Given the description of an element on the screen output the (x, y) to click on. 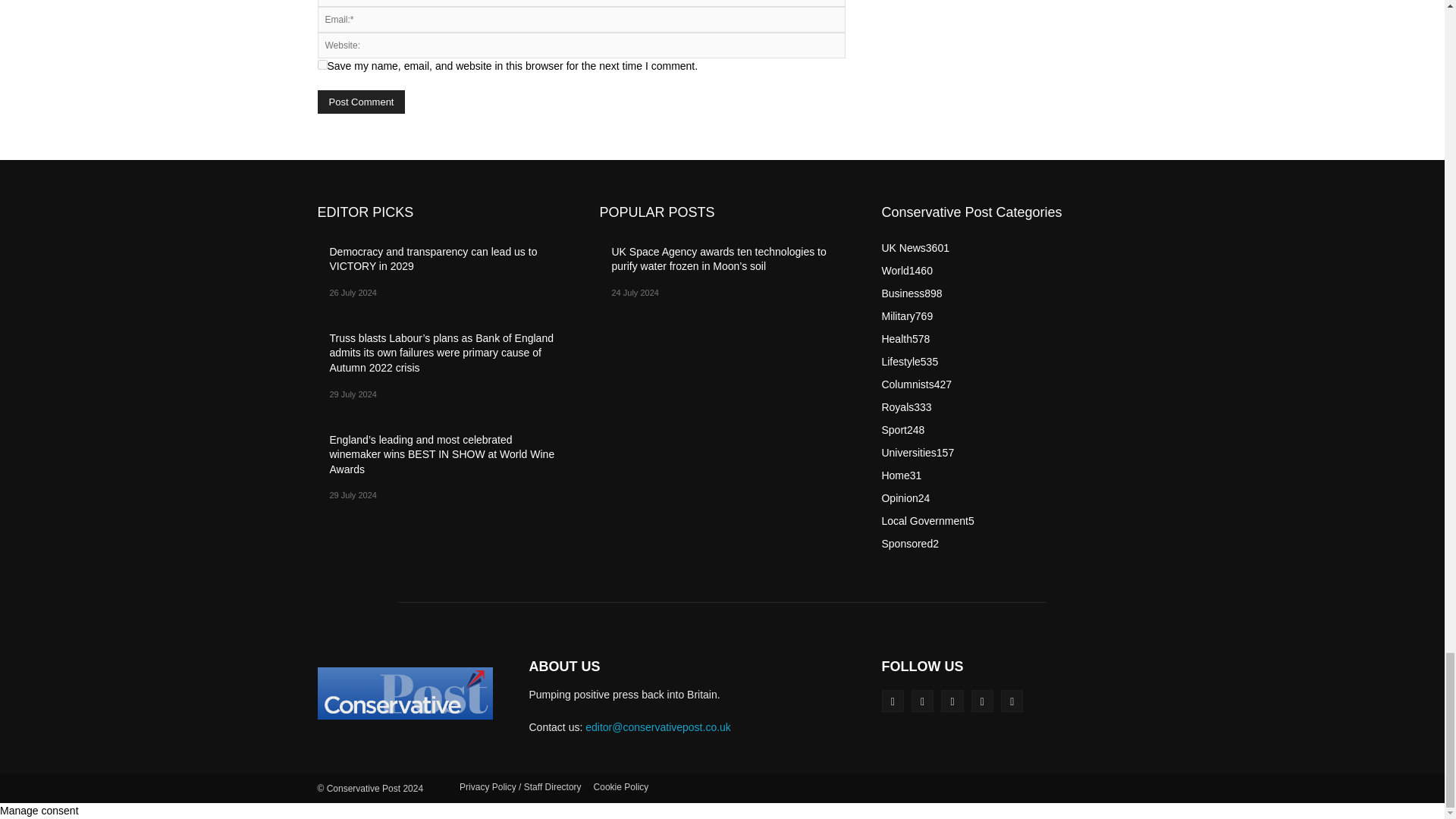
Post Comment (360, 101)
yes (321, 64)
